Given the description of an element on the screen output the (x, y) to click on. 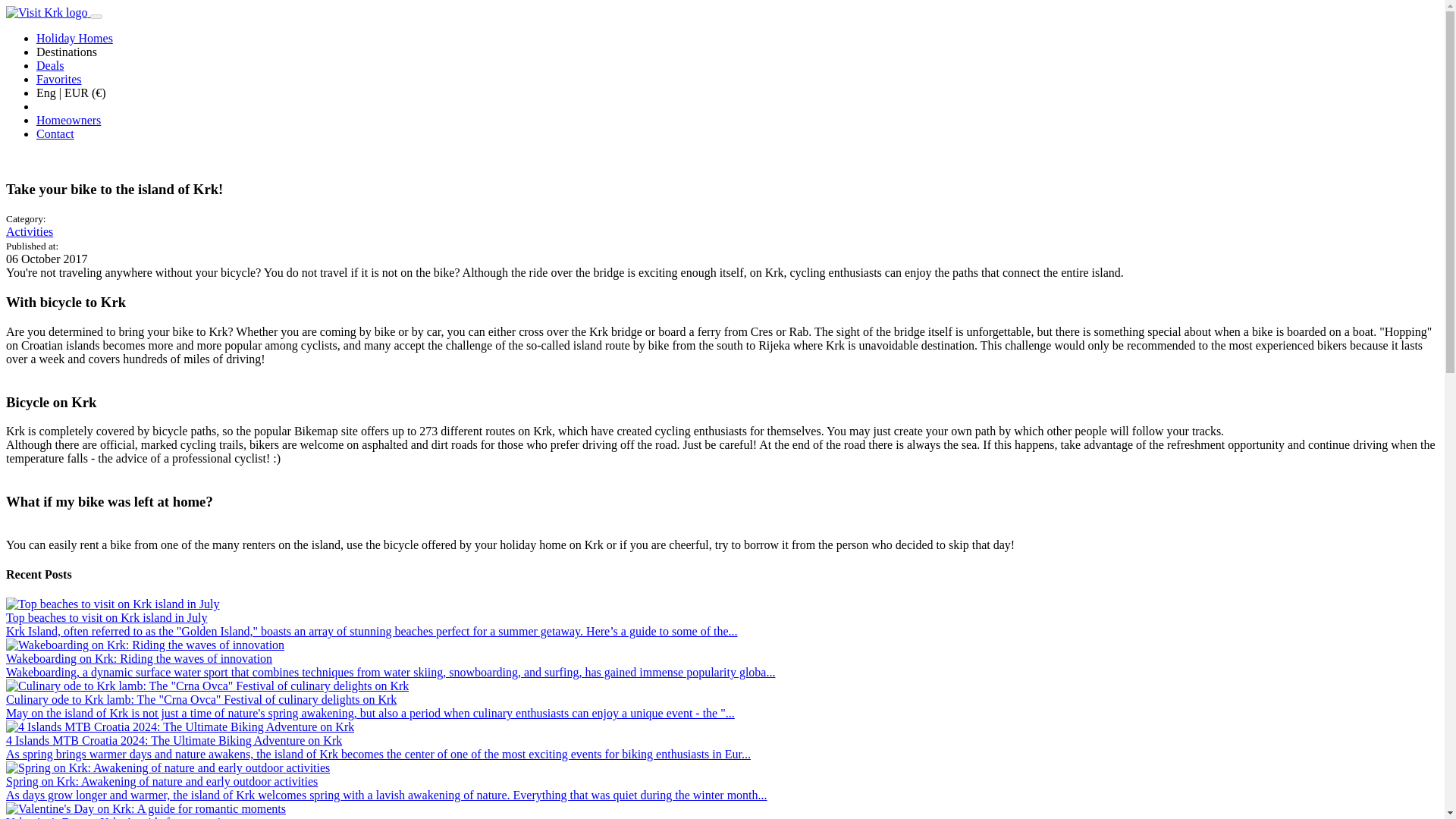
Favorites (58, 78)
Activities (28, 231)
Holiday Homes (74, 38)
Contact (55, 133)
Homeowners (68, 119)
Deals (50, 65)
